Given the description of an element on the screen output the (x, y) to click on. 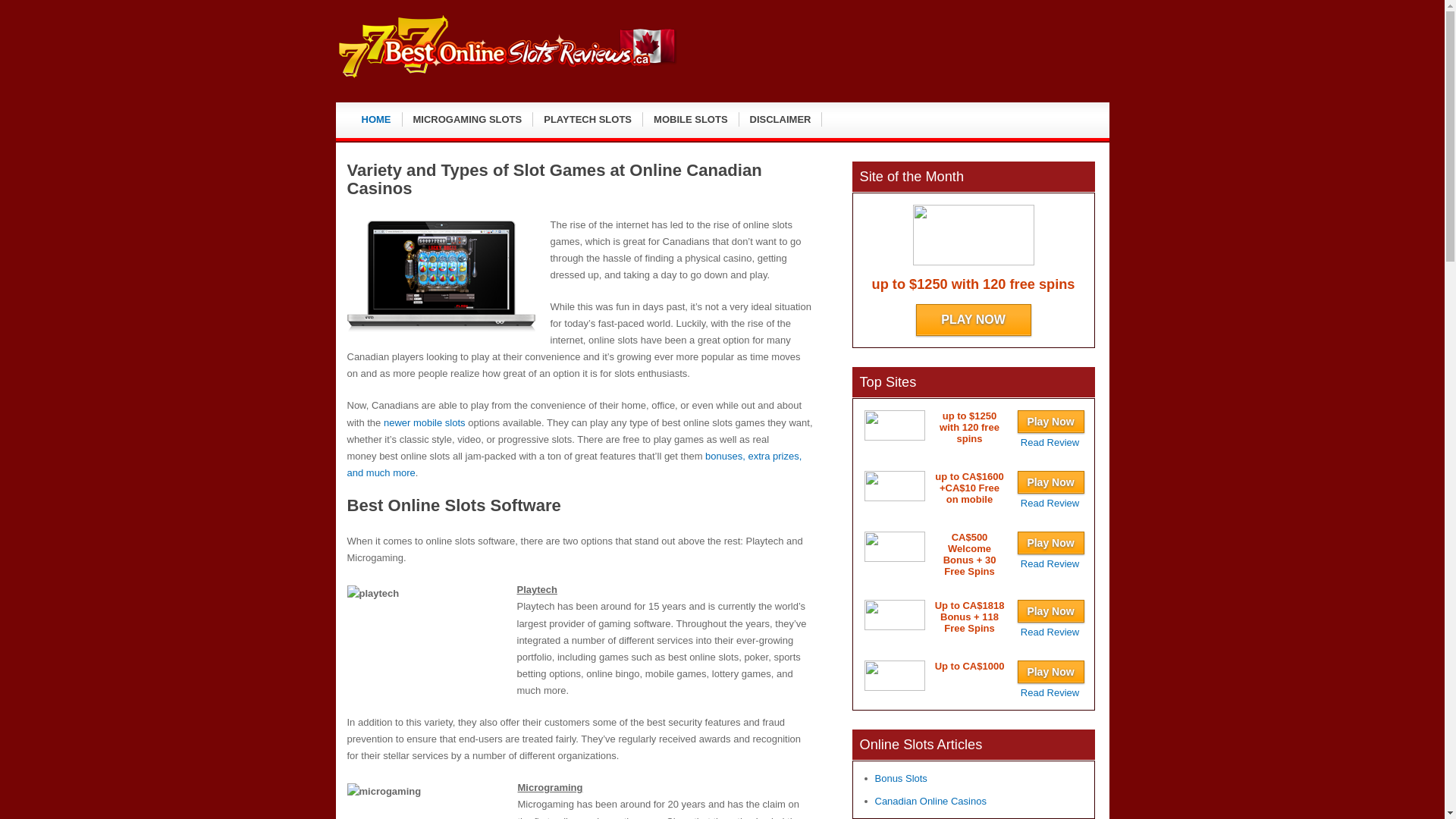
Read Review Element type: text (1049, 631)
Play Now Element type: text (1050, 610)
Read Review Element type: text (1049, 442)
DISCLAIMER Element type: text (780, 119)
Read Review Element type: text (1049, 563)
MOBILE SLOTS Element type: text (691, 119)
Bonus Slots Element type: text (901, 778)
Play Now Element type: text (1050, 421)
newer mobile slots Element type: text (424, 422)
HOME Element type: text (375, 119)
Play Now Element type: text (1050, 542)
MICROGAMING SLOTS Element type: text (467, 119)
Read Review Element type: text (1049, 692)
PLAY NOW Element type: text (973, 319)
bonuses, extra prizes, and much more Element type: text (574, 464)
Play Now Element type: text (1050, 671)
bestonlineslotsreviews.ca Element type: hover (505, 77)
Read Review Element type: text (1049, 502)
Canadian Online Casinos Element type: text (930, 800)
PLAYTECH SLOTS Element type: text (588, 119)
Play Now Element type: text (1050, 481)
